Given the description of an element on the screen output the (x, y) to click on. 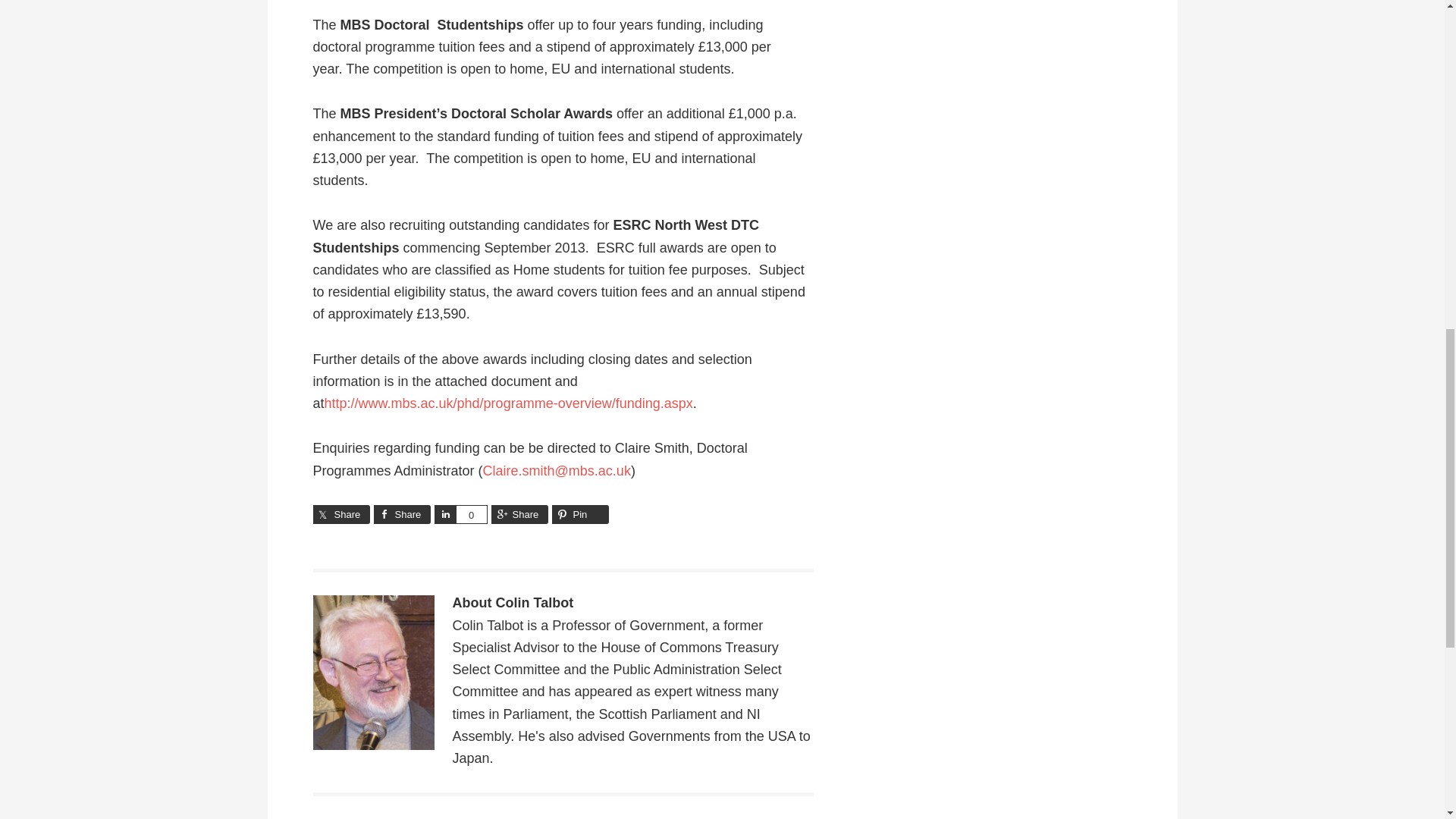
Share (443, 514)
Pin (579, 514)
0 (470, 514)
Share (341, 514)
Share (520, 514)
Share (400, 514)
